Given the description of an element on the screen output the (x, y) to click on. 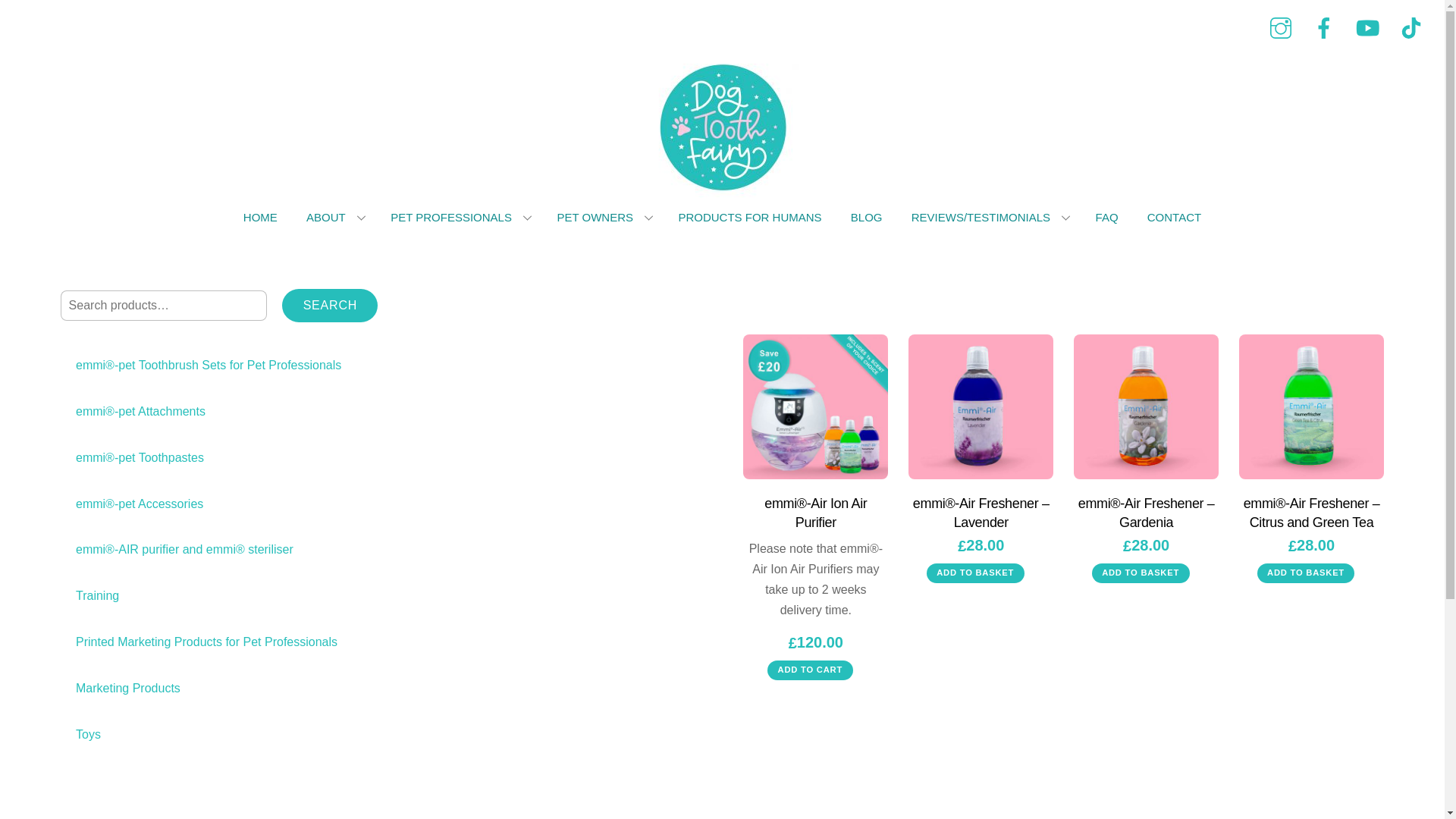
FAQ (1106, 217)
PET PROFESSIONALS (458, 217)
BLOG (865, 217)
Lavender scent (980, 406)
PRODUCTS FOR HUMANS (749, 217)
CONTACT (1173, 217)
PET OWNERS (603, 217)
HOME (260, 217)
ABOUT (333, 217)
Easter Deal (815, 406)
Gardenia scent (1146, 406)
Green Tea scent (1311, 406)
